Given the description of an element on the screen output the (x, y) to click on. 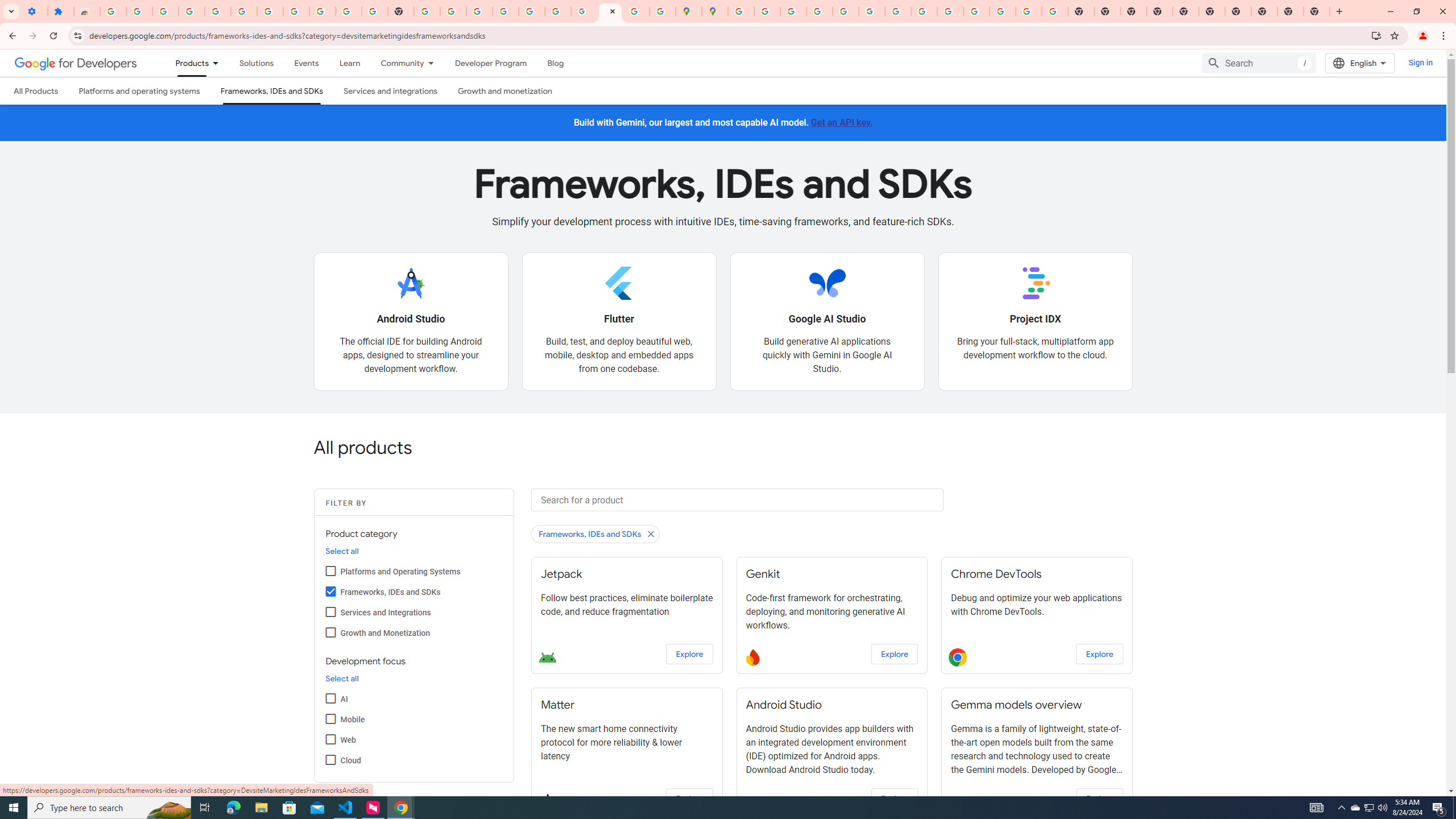
Google AI Studio logo (826, 282)
Google for Developers (75, 63)
Search for a product (737, 499)
Products, selected (186, 62)
YouTube (897, 11)
Get an API key. (841, 122)
Project IDX logo (1035, 282)
